Given the description of an element on the screen output the (x, y) to click on. 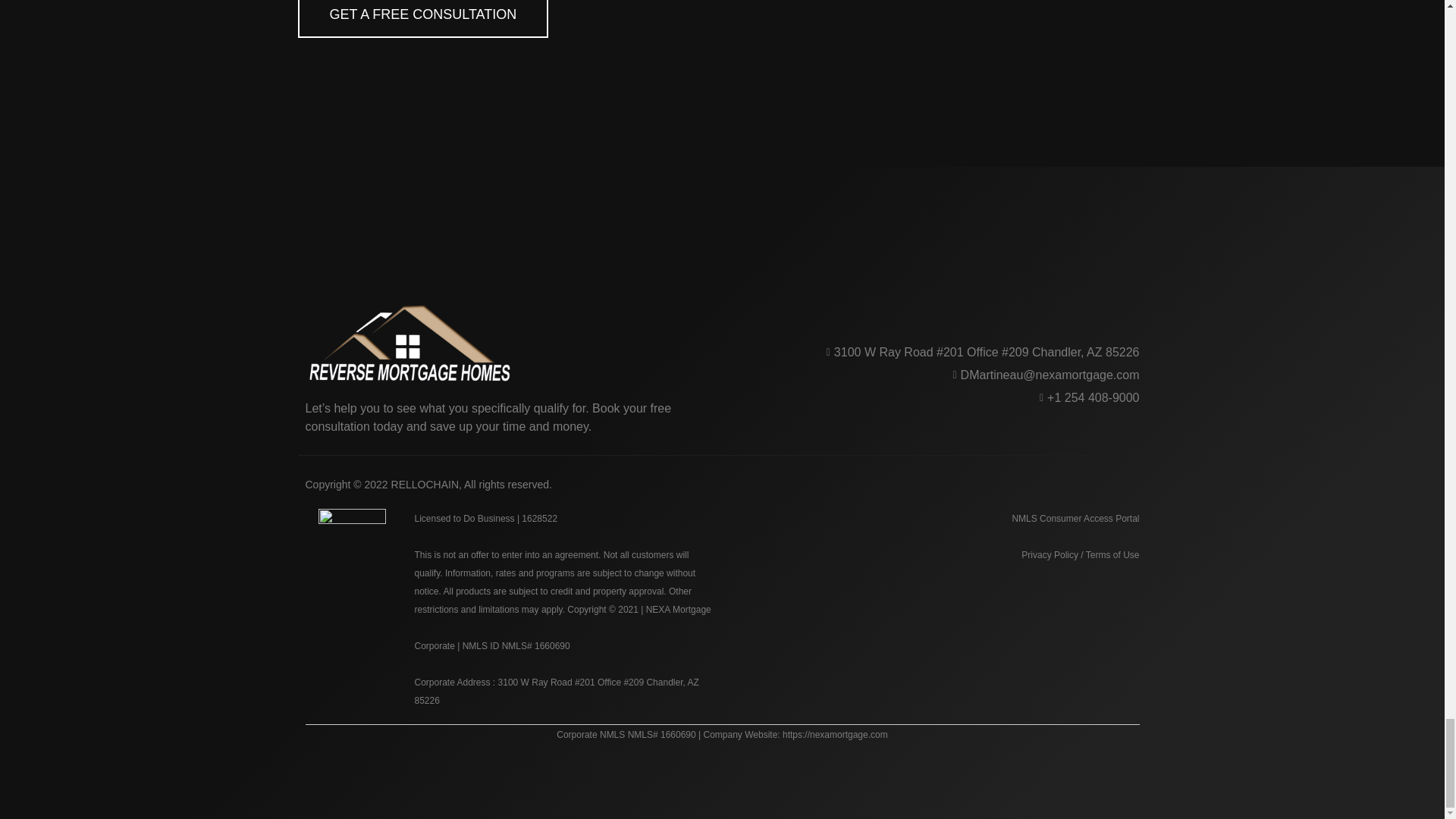
GET A FREE CONSULTATION (422, 18)
29331391 (408, 343)
